Given the description of an element on the screen output the (x, y) to click on. 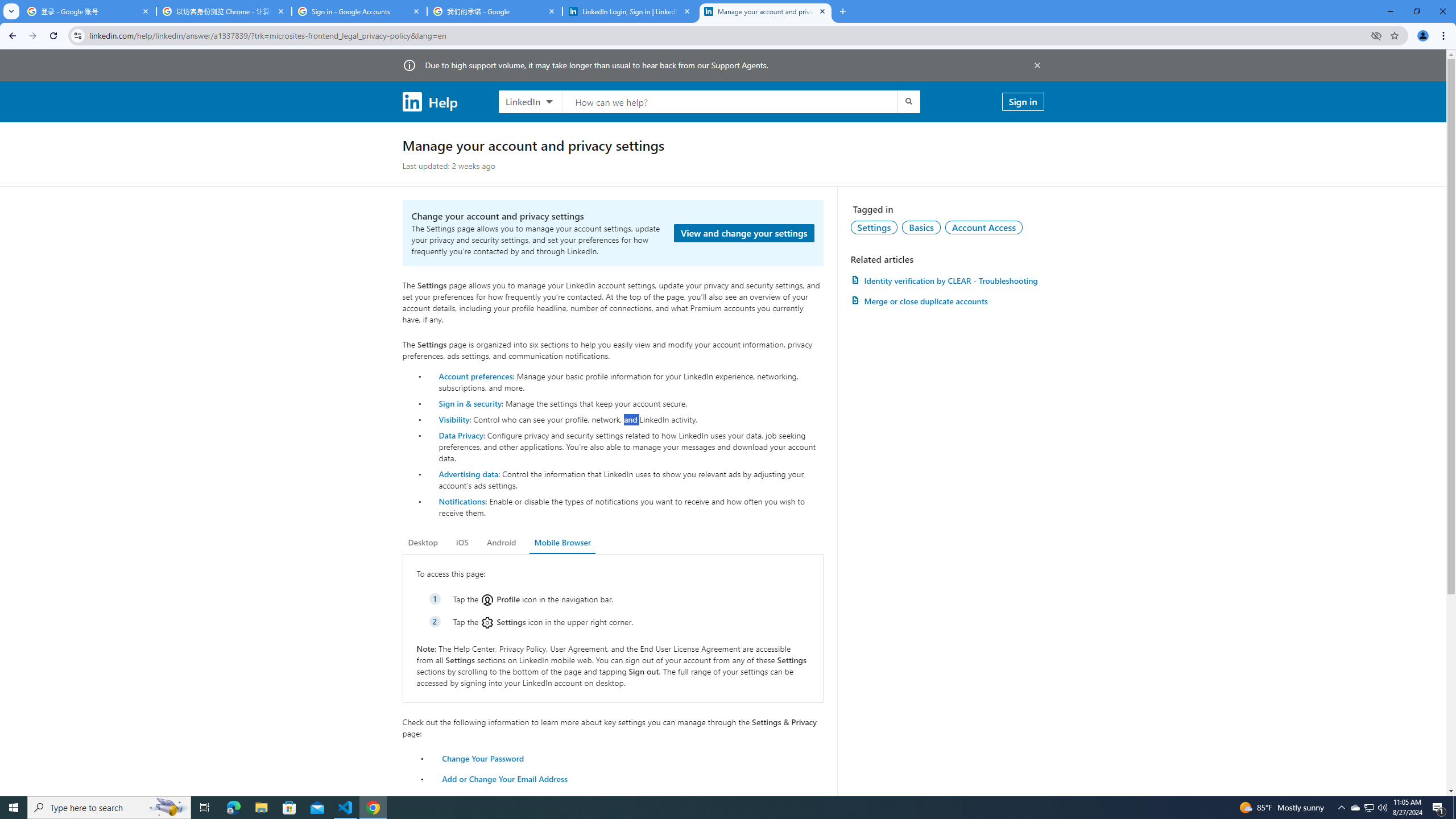
Android (501, 542)
Identity verification by CLEAR - Troubleshooting (946, 280)
Advertising data (468, 473)
LinkedIn products to search, LinkedIn selected (530, 101)
